Given the description of an element on the screen output the (x, y) to click on. 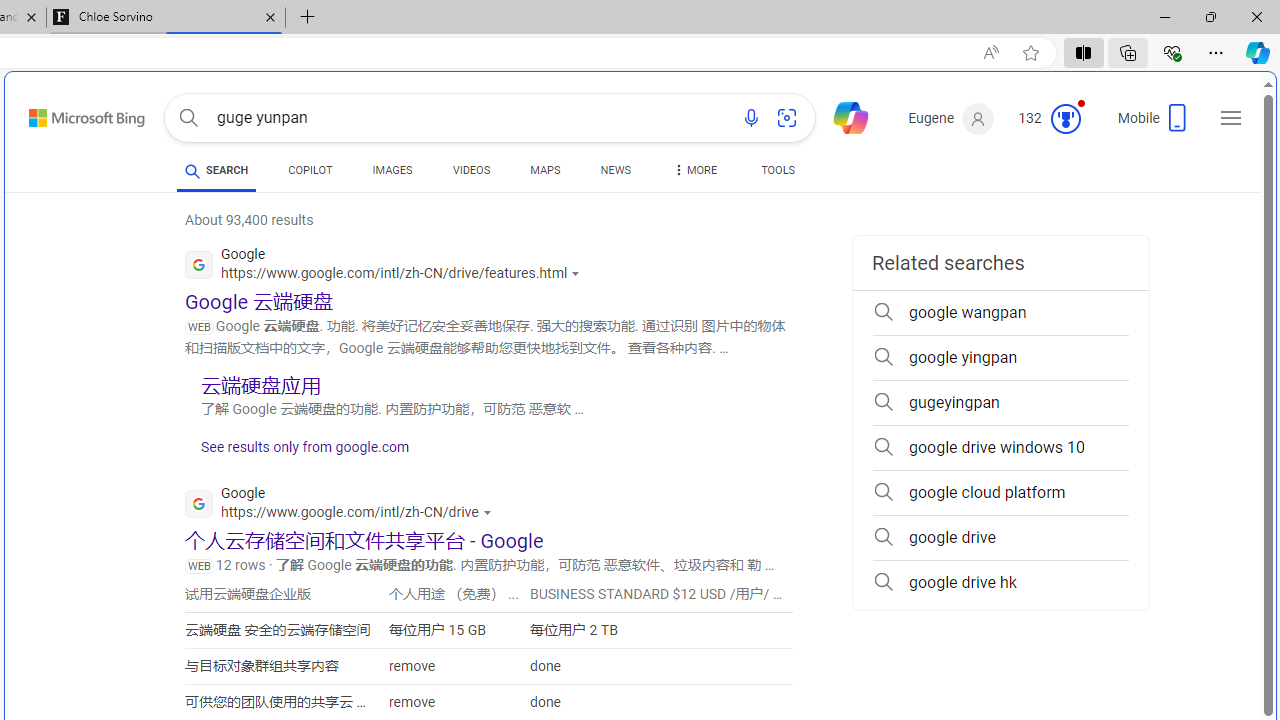
TOOLS (777, 170)
google yingpan (1000, 358)
NEWS (614, 173)
NEWS (614, 170)
Close (1256, 16)
SEARCH (216, 170)
Restore (1210, 16)
MAPS (545, 173)
COPILOT (310, 173)
Split screen (1083, 52)
See results only from google.com (297, 452)
Search (188, 117)
Search using an image (787, 117)
